Given the description of an element on the screen output the (x, y) to click on. 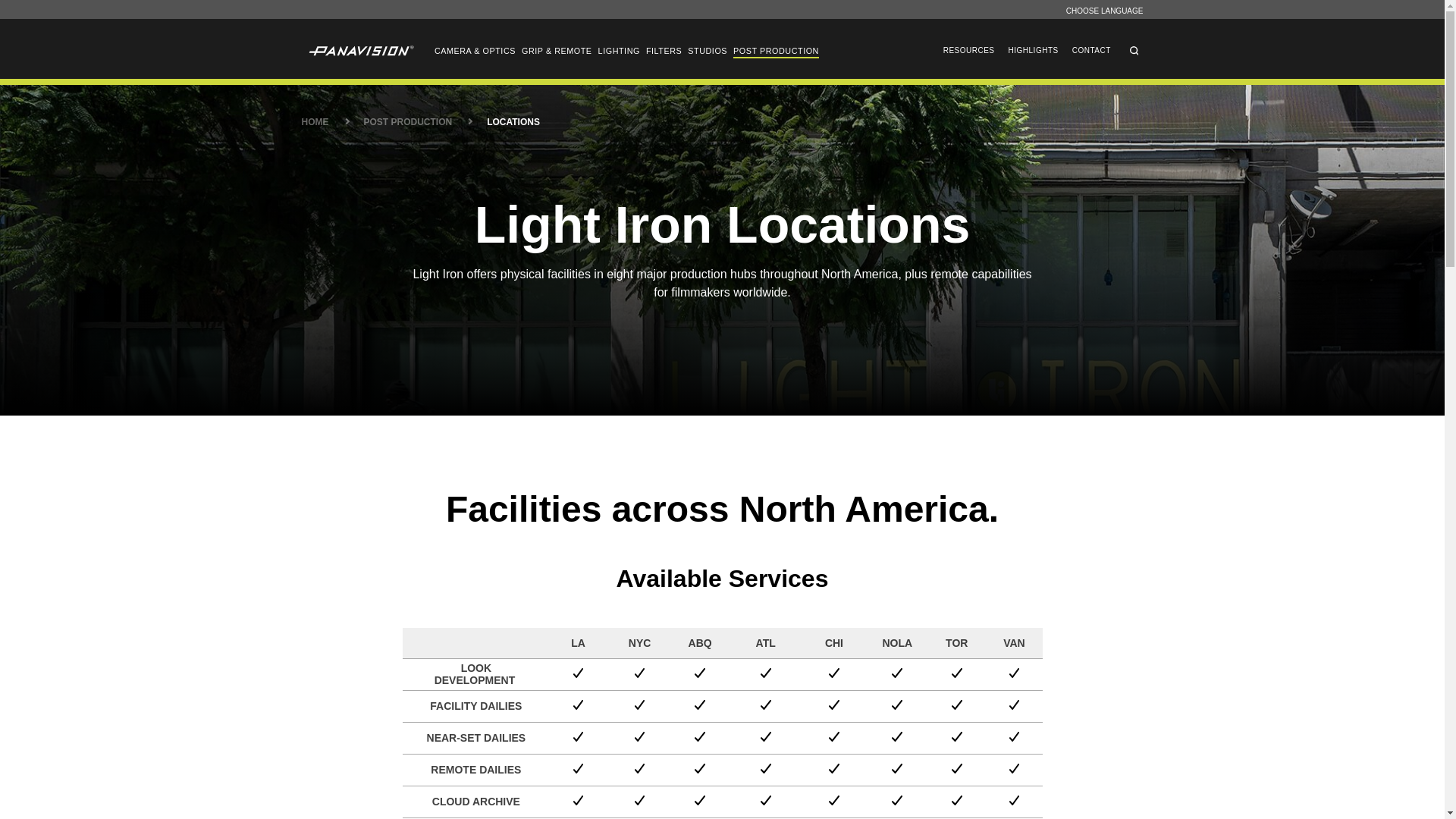
Panavision (360, 50)
CHOOSE LANGUAGE (1103, 9)
Global Switch (1103, 9)
